Given the description of an element on the screen output the (x, y) to click on. 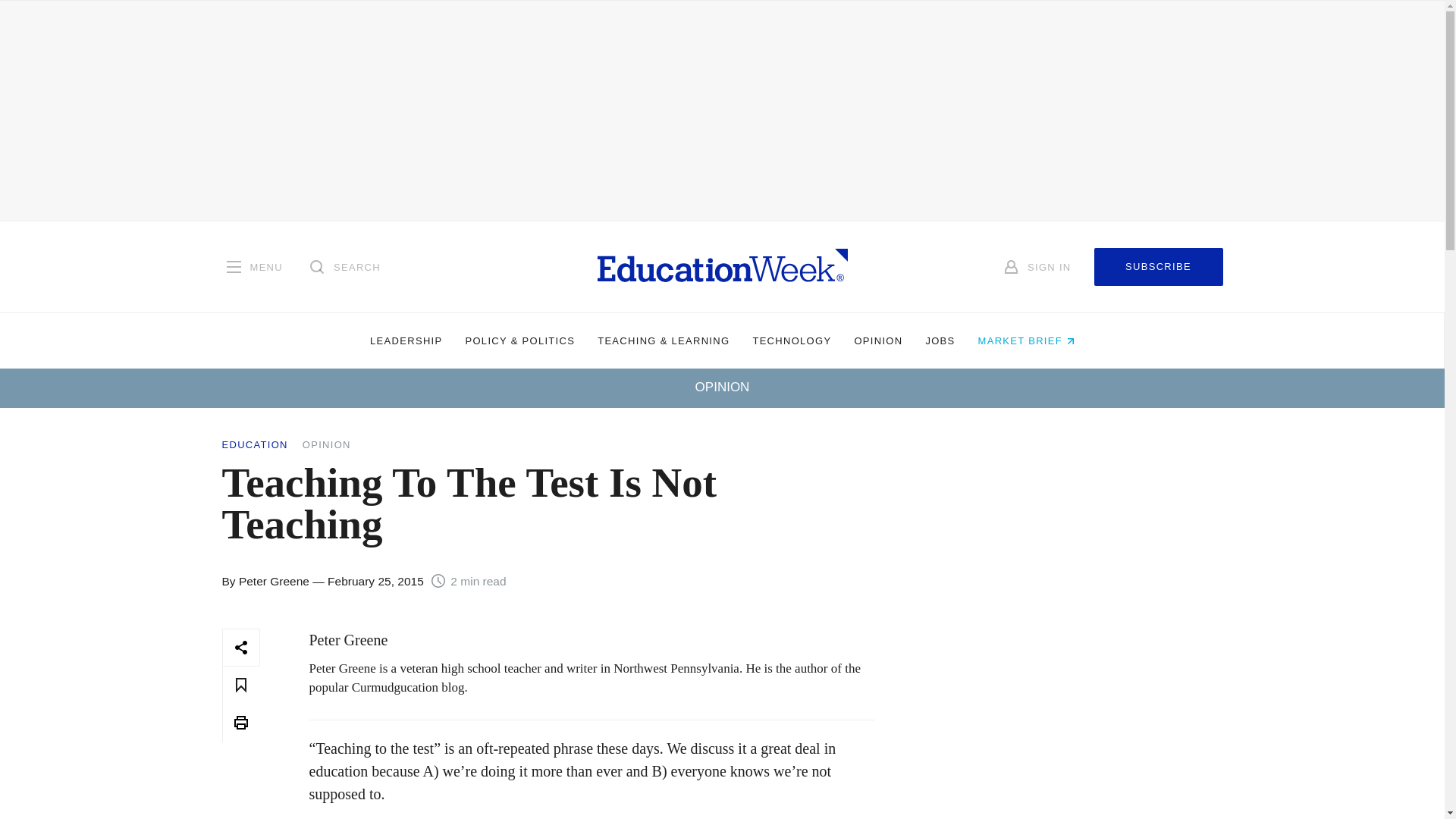
3rd party ad content (1070, 723)
Homepage (721, 266)
